Given the description of an element on the screen output the (x, y) to click on. 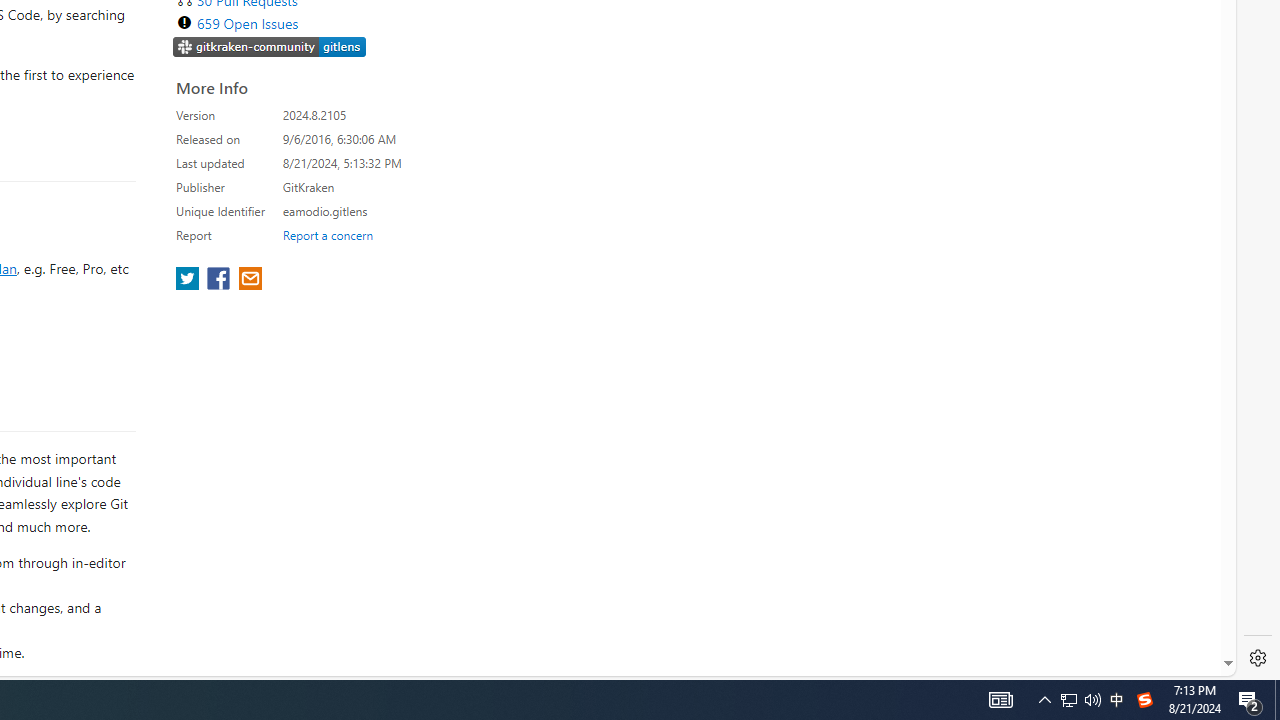
share extension on facebook (220, 280)
Report a concern (327, 234)
https://slack.gitkraken.com// (269, 48)
share extension on email (249, 280)
share extension on twitter (190, 280)
https://slack.gitkraken.com// (269, 46)
